Given the description of an element on the screen output the (x, y) to click on. 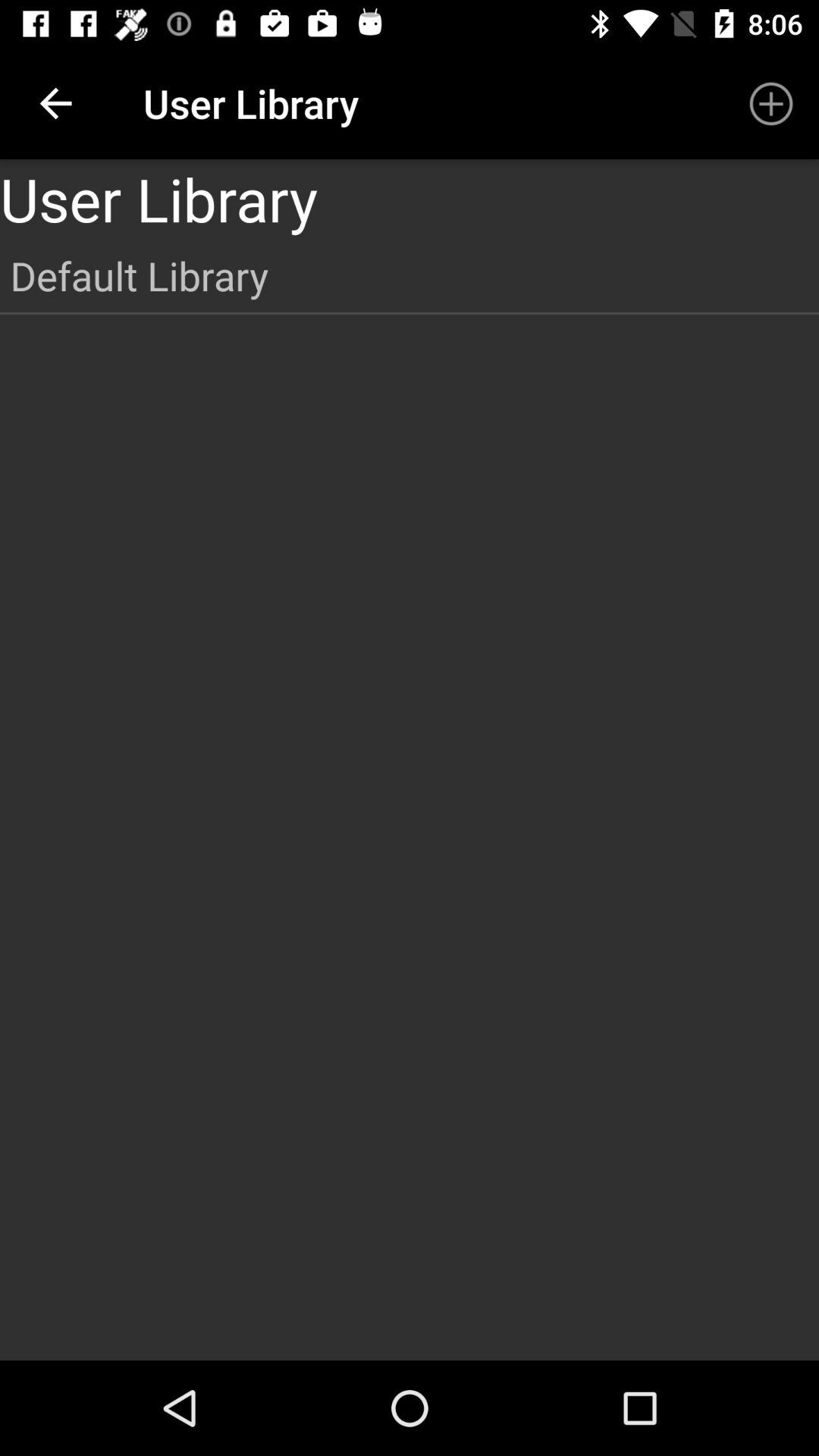
open item next to user library icon (55, 103)
